Given the description of an element on the screen output the (x, y) to click on. 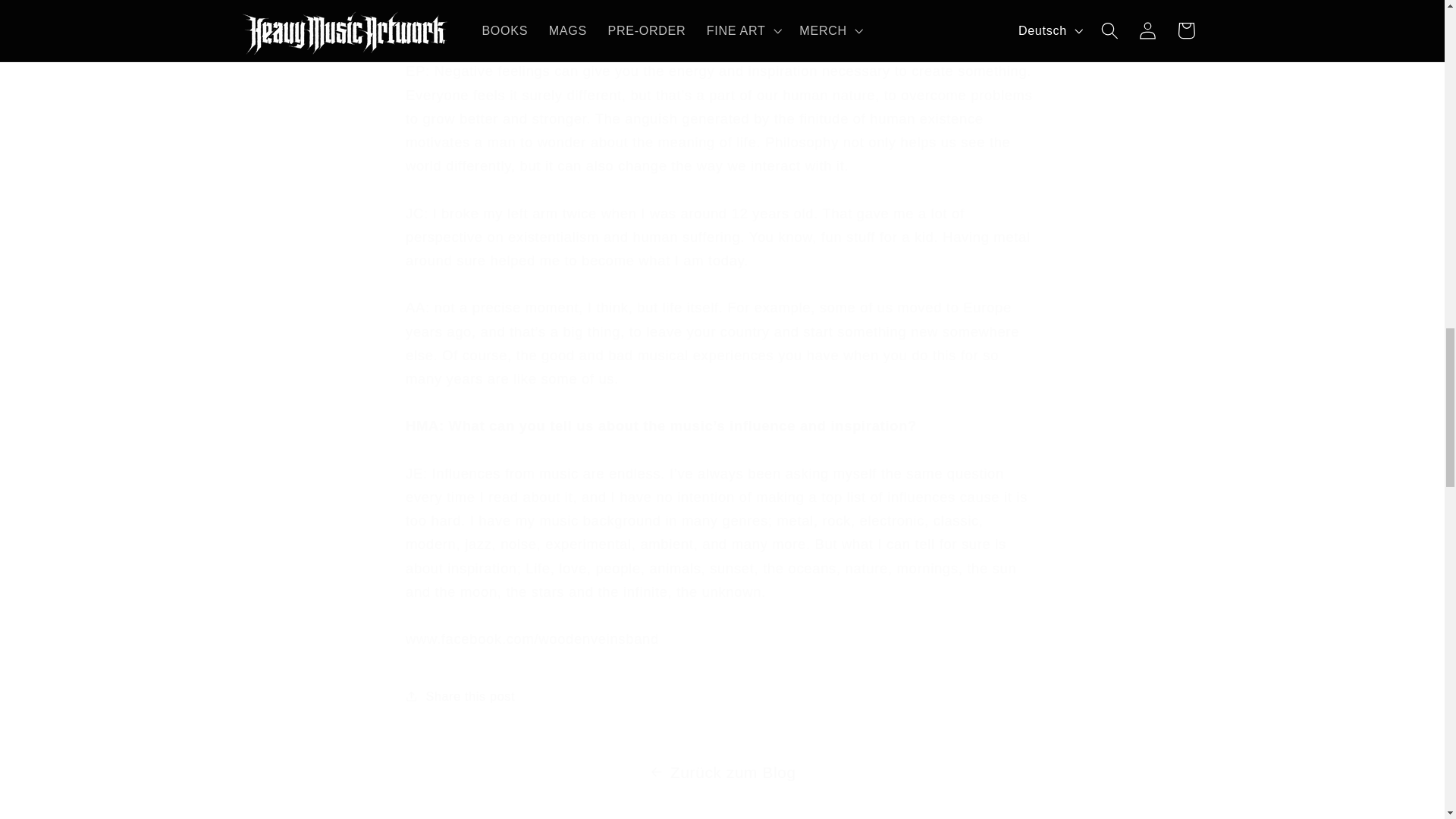
Share this post (722, 696)
